Given the description of an element on the screen output the (x, y) to click on. 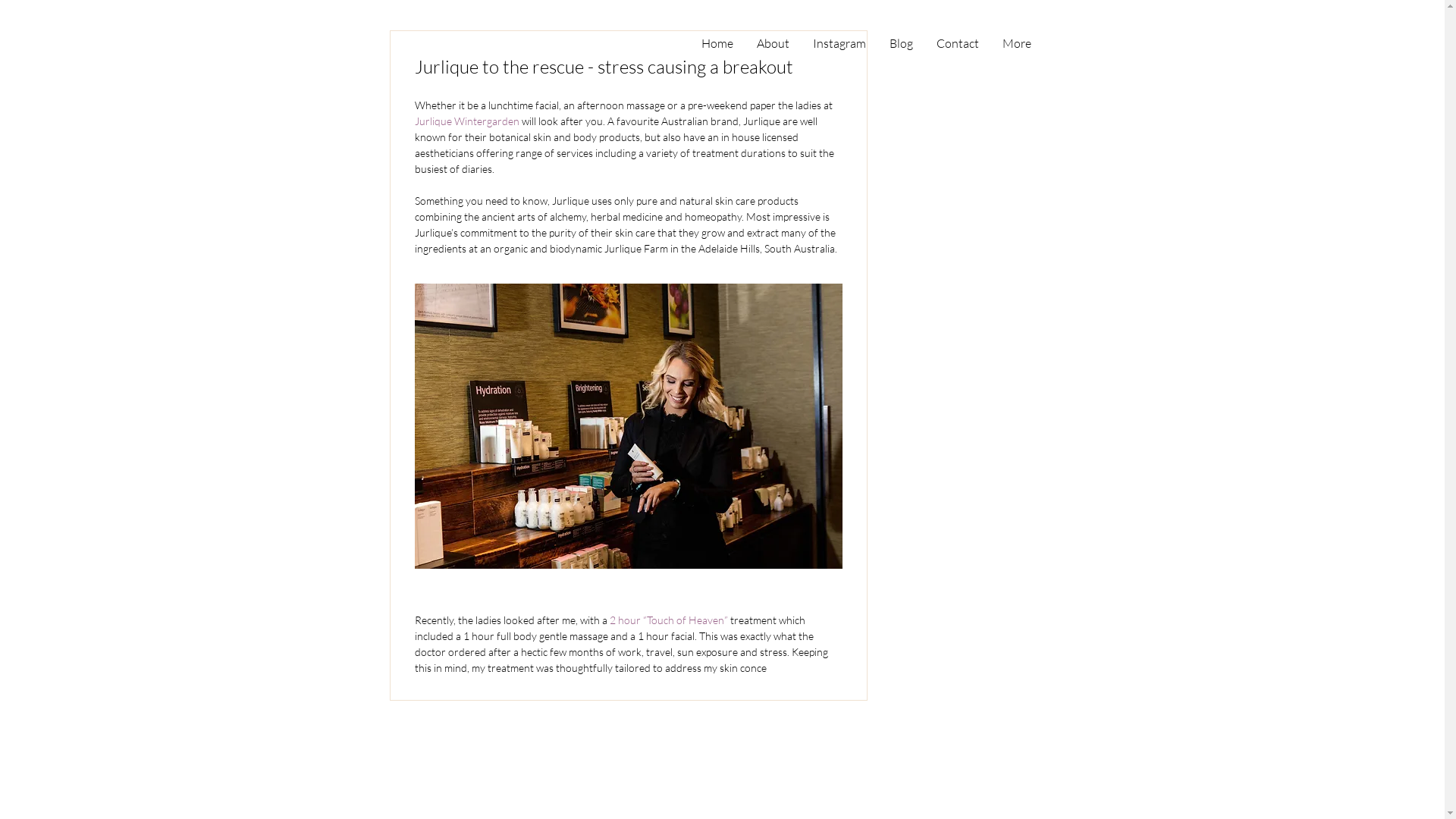
Contact Element type: text (957, 43)
Home Element type: text (717, 43)
Instagram Element type: text (838, 43)
Jurlique Wintergarden Element type: text (466, 120)
Blog Element type: text (901, 43)
About Element type: text (772, 43)
